Given the description of an element on the screen output the (x, y) to click on. 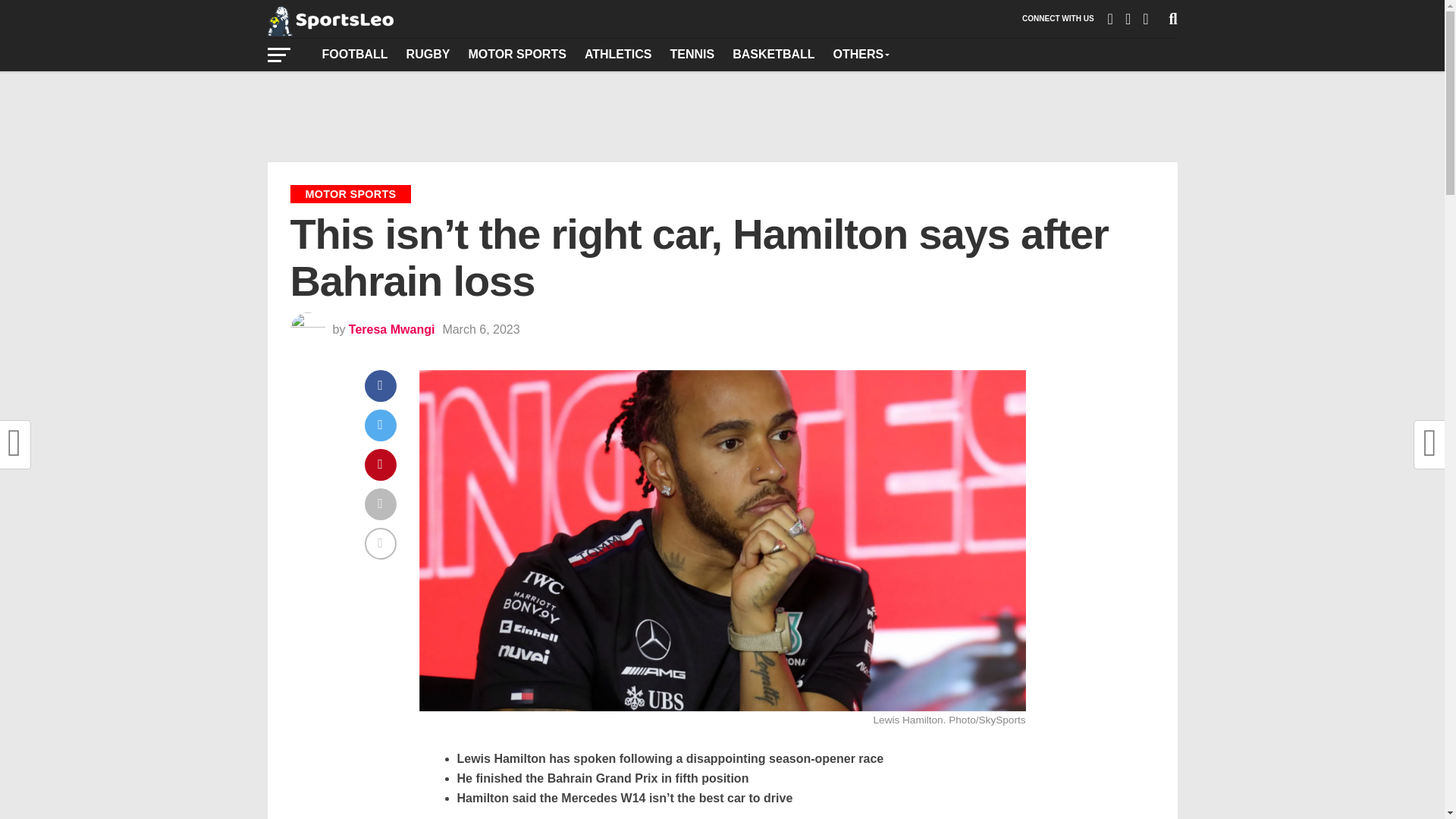
RUGBY (428, 54)
MOTOR SPORTS (516, 54)
OTHERS (861, 54)
TENNIS (692, 54)
BASKETBALL (773, 54)
Advertisement (721, 116)
ATHLETICS (618, 54)
Posts by Teresa Mwangi (392, 328)
Teresa Mwangi (392, 328)
FOOTBALL (354, 54)
